Given the description of an element on the screen output the (x, y) to click on. 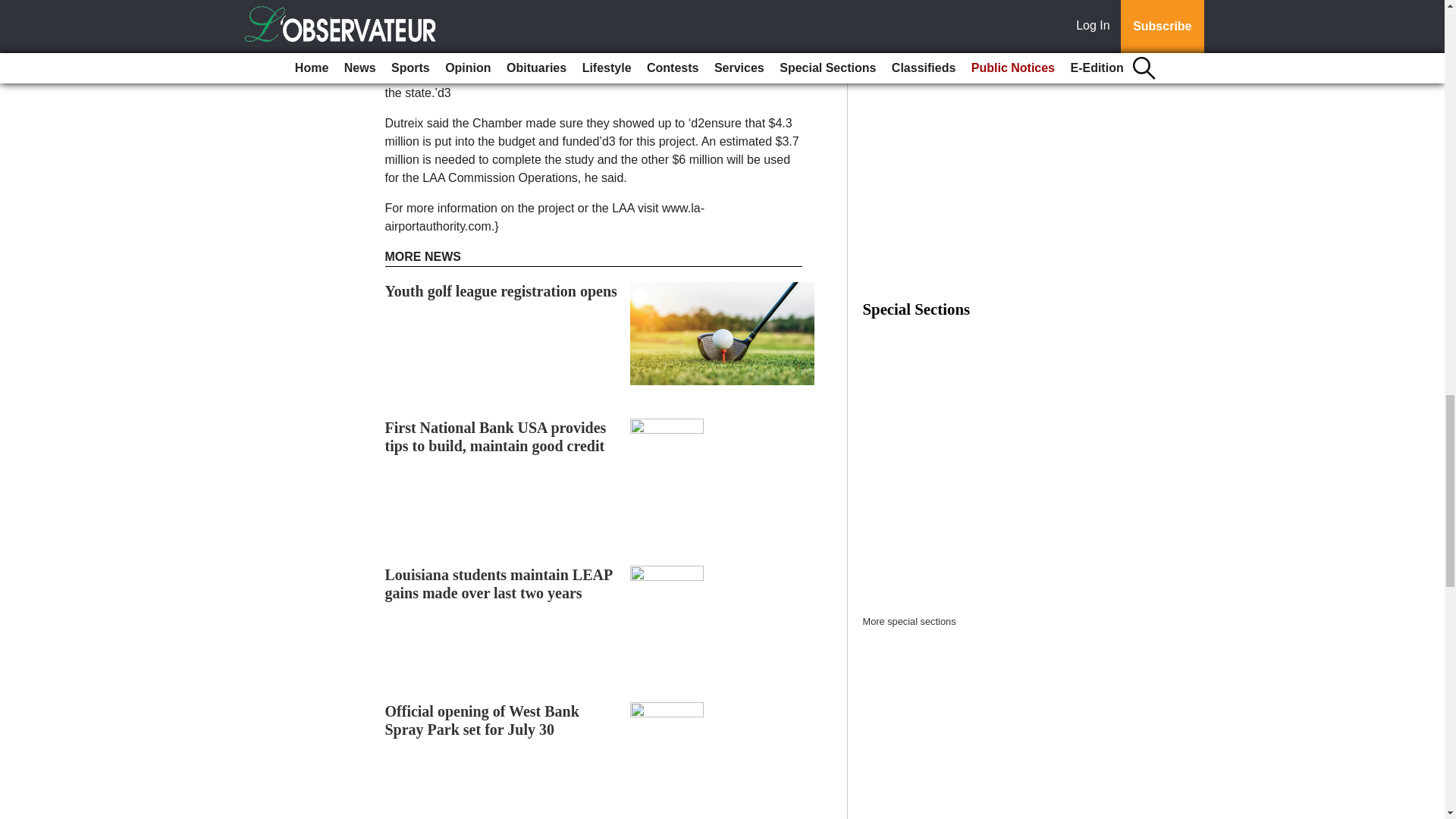
Official opening of West Bank Spray Park set for July 30 (482, 719)
Youth golf league registration opens (501, 290)
Youth golf league registration opens (501, 290)
Official opening of West Bank Spray Park set for July 30 (482, 719)
